Given the description of an element on the screen output the (x, y) to click on. 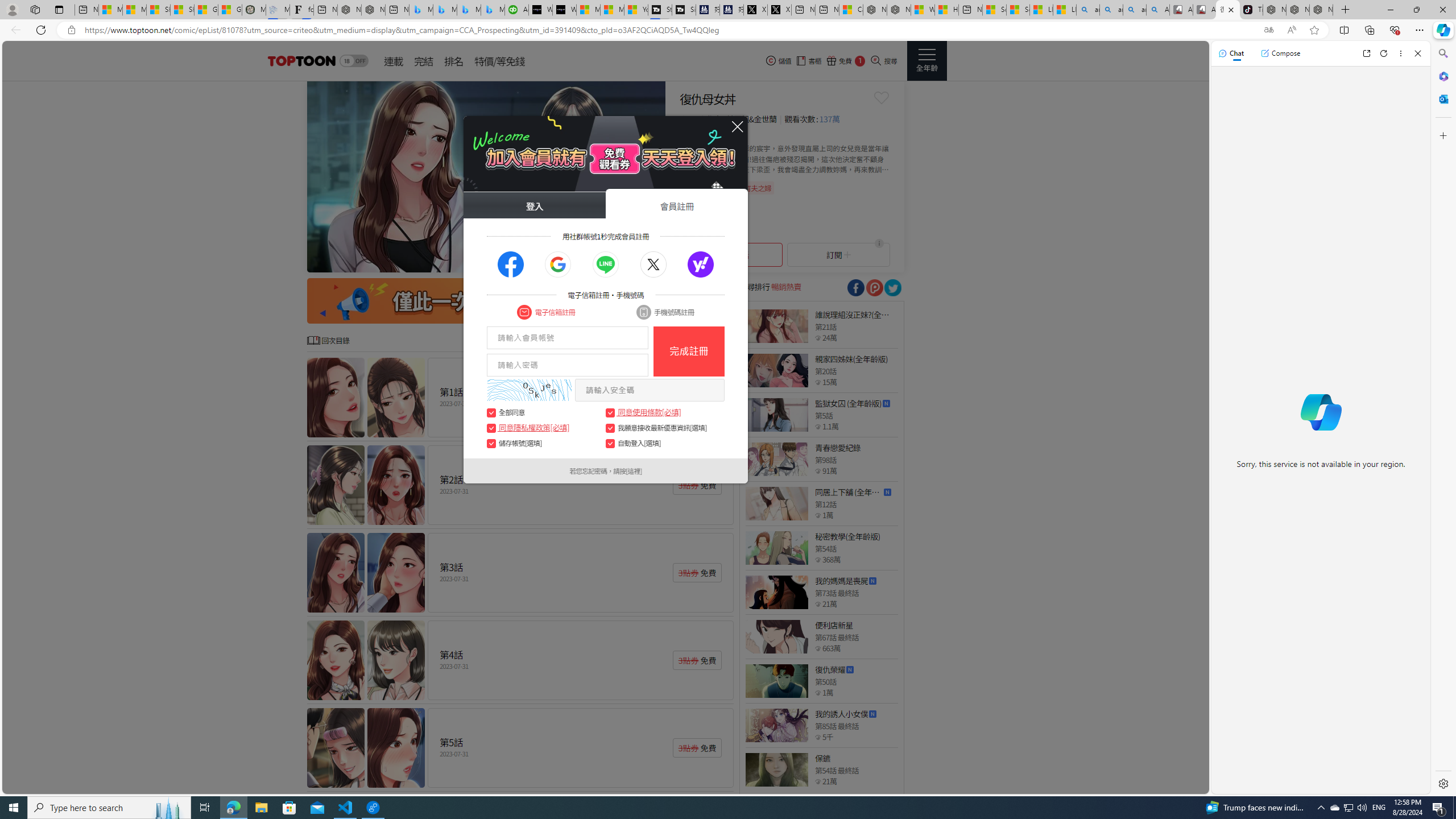
Class: side_menu_btn actionRightMenuBtn (926, 60)
Gilma and Hector both pose tropical trouble for Hawaii (229, 9)
header (300, 60)
TikTok (1251, 9)
Settings (1442, 783)
